Given the description of an element on the screen output the (x, y) to click on. 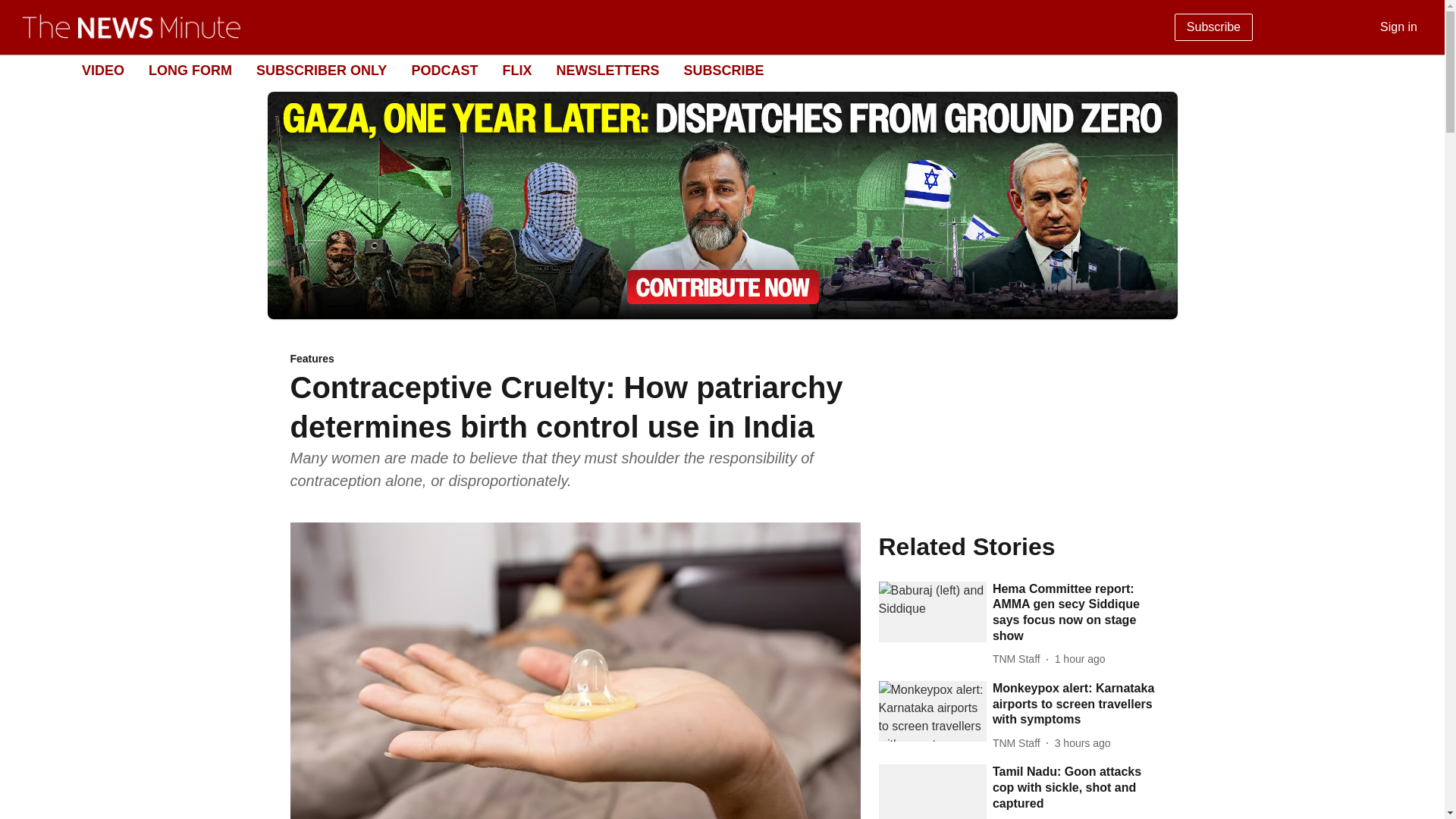
VIDEO (102, 70)
FLIX (516, 70)
PODCAST (443, 70)
SUBSCRIBER ONLY (321, 70)
2024-08-20 06:14 (1079, 659)
Dark Mode (1415, 70)
2024-08-20 04:13 (1082, 743)
Features (574, 359)
NEWSLETTERS (607, 70)
